Given the description of an element on the screen output the (x, y) to click on. 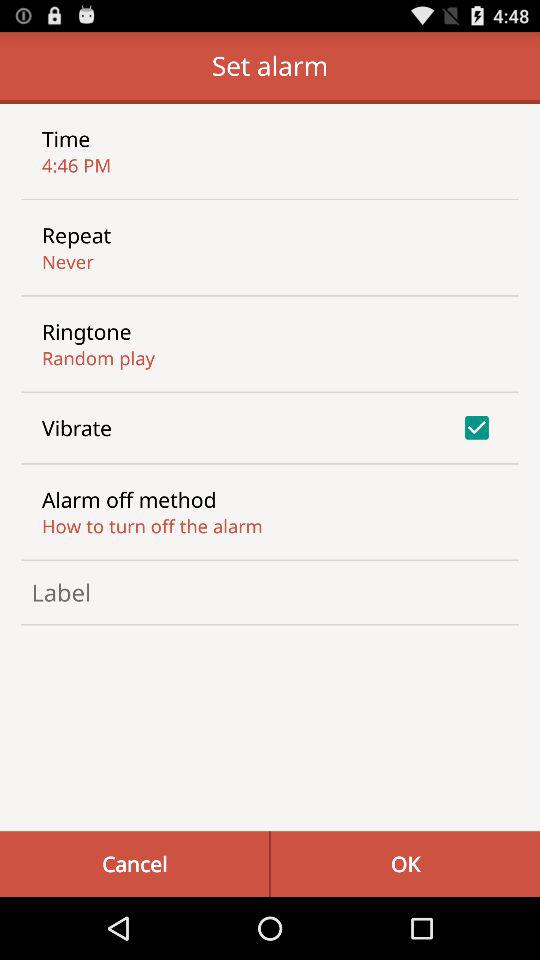
launch item on the right (476, 427)
